Given the description of an element on the screen output the (x, y) to click on. 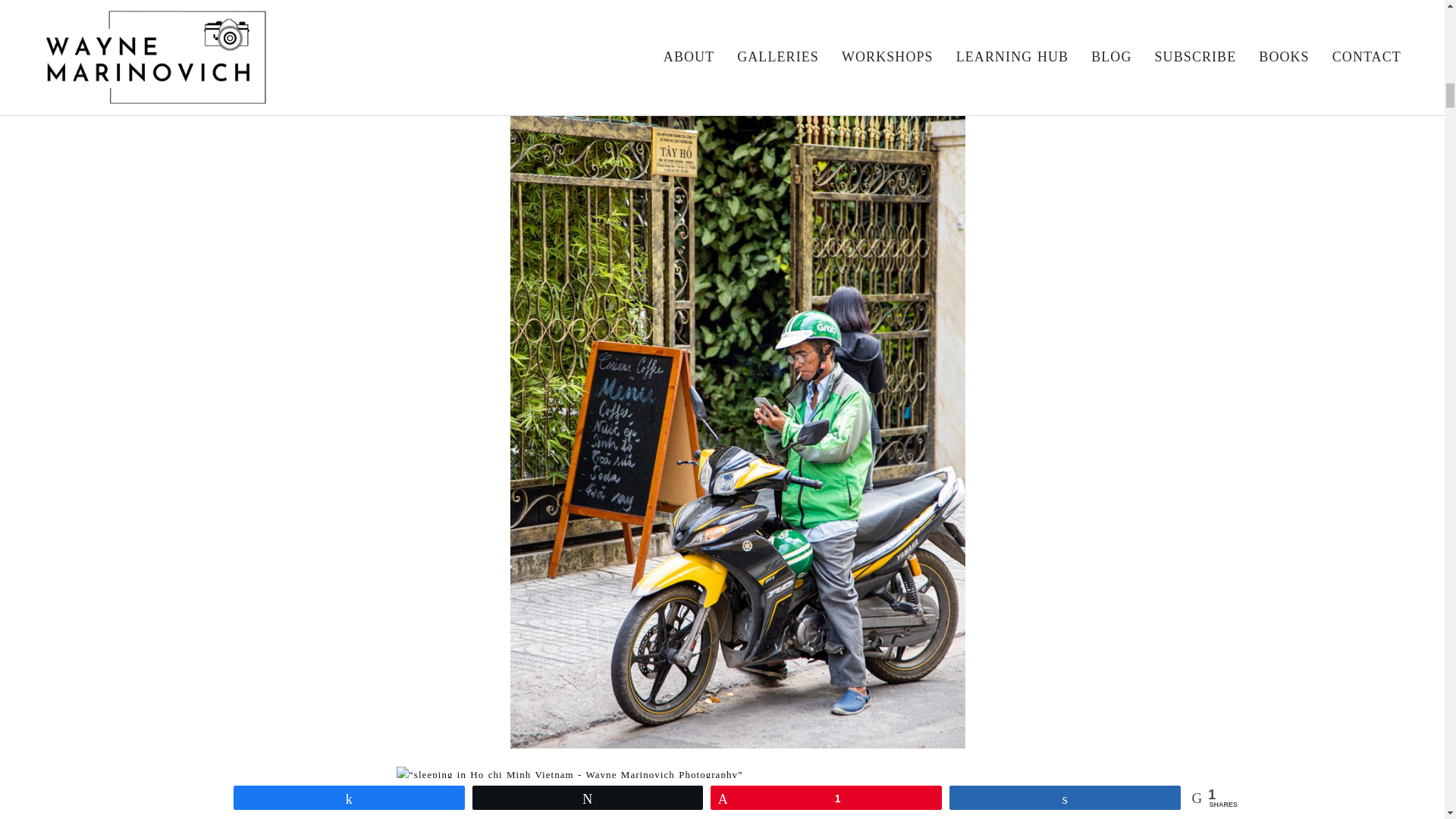
Sleeping in Ho chi Minh Vietnam (737, 792)
